Given the description of an element on the screen output the (x, y) to click on. 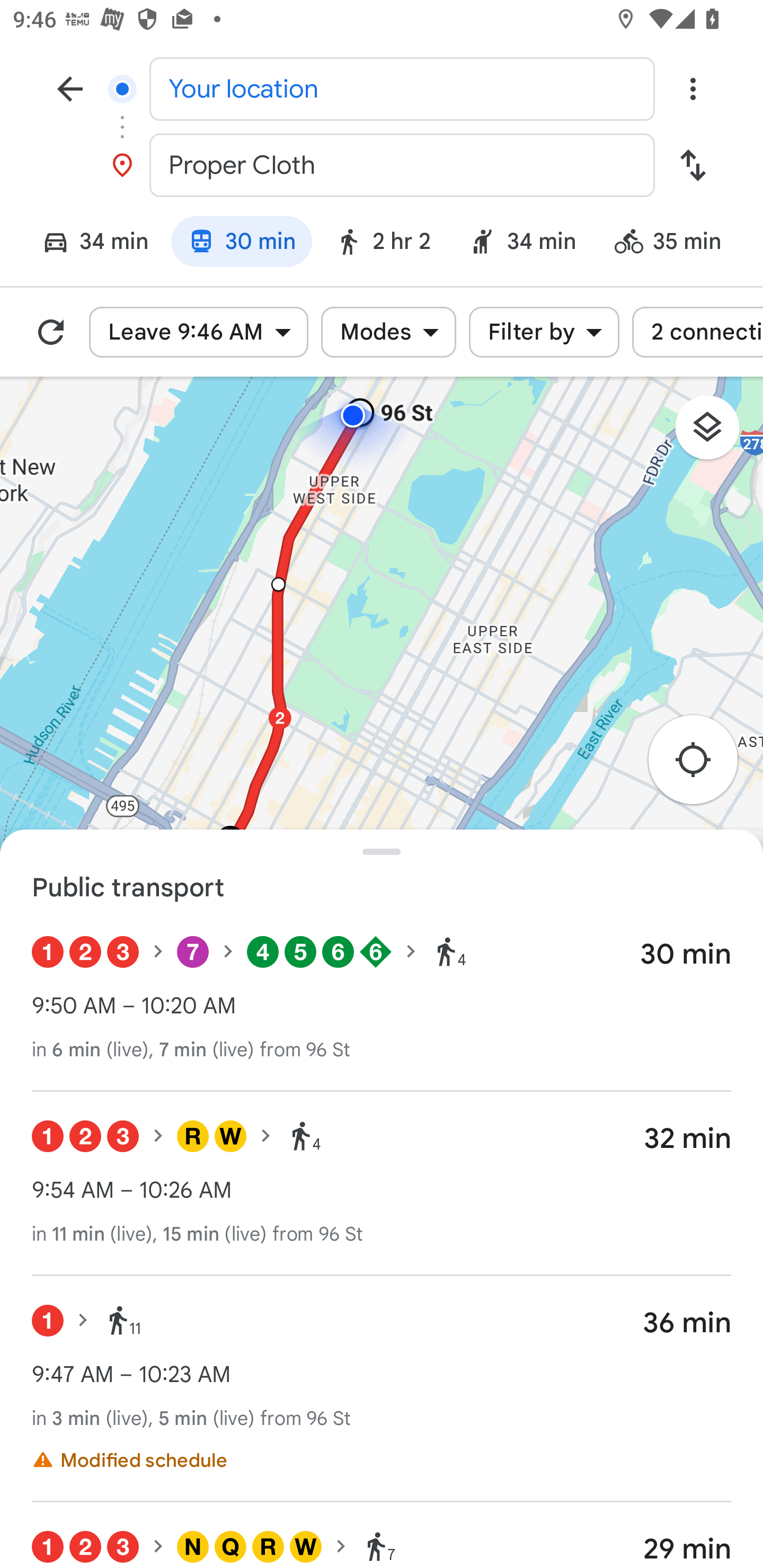
Navigate up (70, 88)
Your location Start location, Your location (381, 88)
Overflow menu (692, 88)
Proper Cloth Destination, Proper Cloth (381, 165)
Swap start and destination (692, 165)
Driving mode: 34 min 34 min (86, 244)
Walking mode: 2 hr 2 2 hr 2 (382, 244)
Ride service: 34 min 34 min (522, 244)
Bicycling mode: 35 min 35 min (675, 244)
Refresh (50, 332)
Leave 9:46 AM (198, 332)
Modes (388, 332)
Filter by (544, 332)
2 connecting modes (697, 332)
Layers (716, 433)
Re-center map to your location (702, 764)
